Given the description of an element on the screen output the (x, y) to click on. 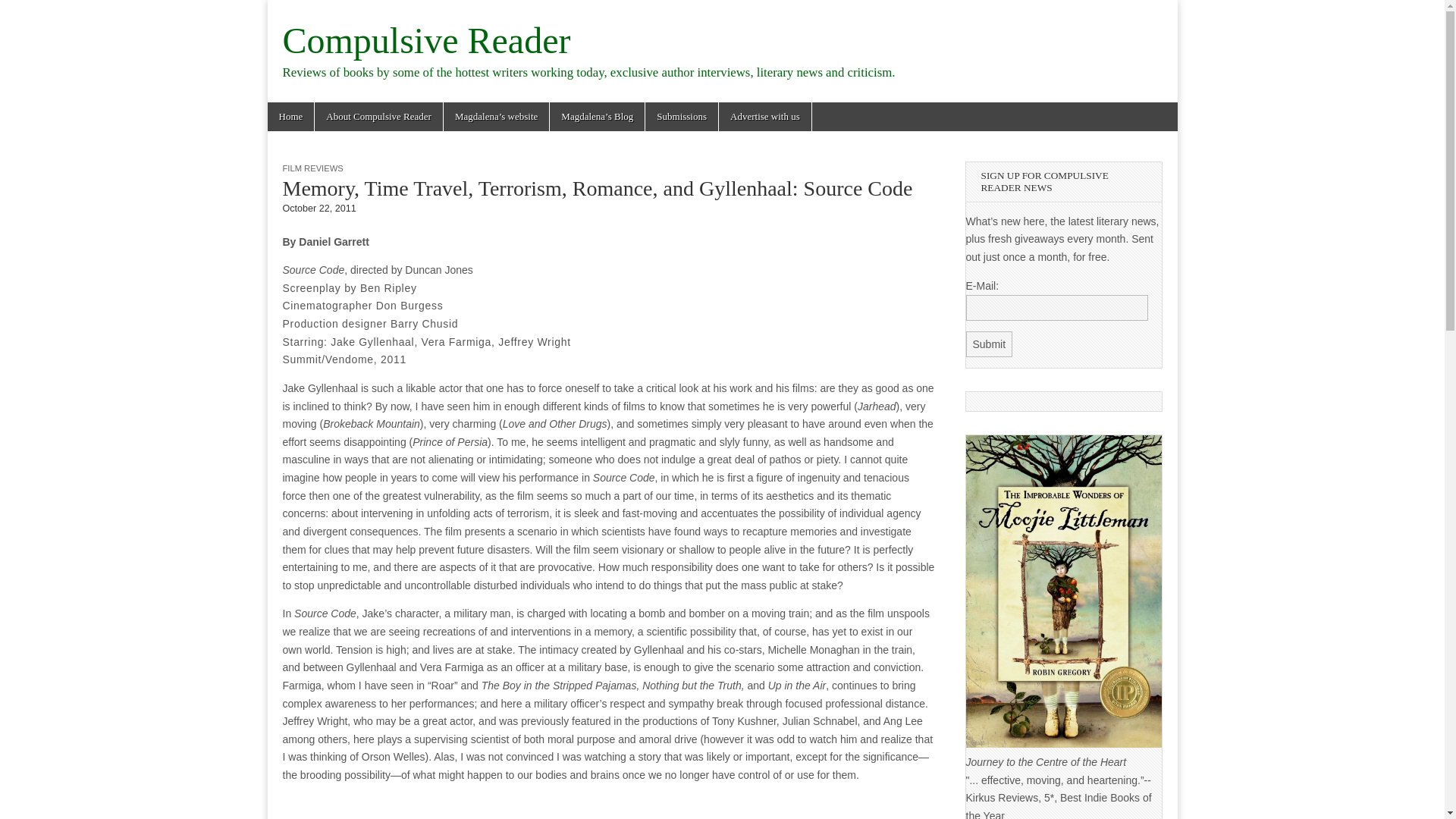
Submit (989, 344)
Compulsive Reader (426, 40)
FILM REVIEWS (312, 167)
About Compulsive Reader (378, 116)
Compulsive Reader (426, 40)
Advertise with us (764, 116)
Home (290, 116)
Submit (989, 344)
Search (23, 12)
Submissions (681, 116)
